Given the description of an element on the screen output the (x, y) to click on. 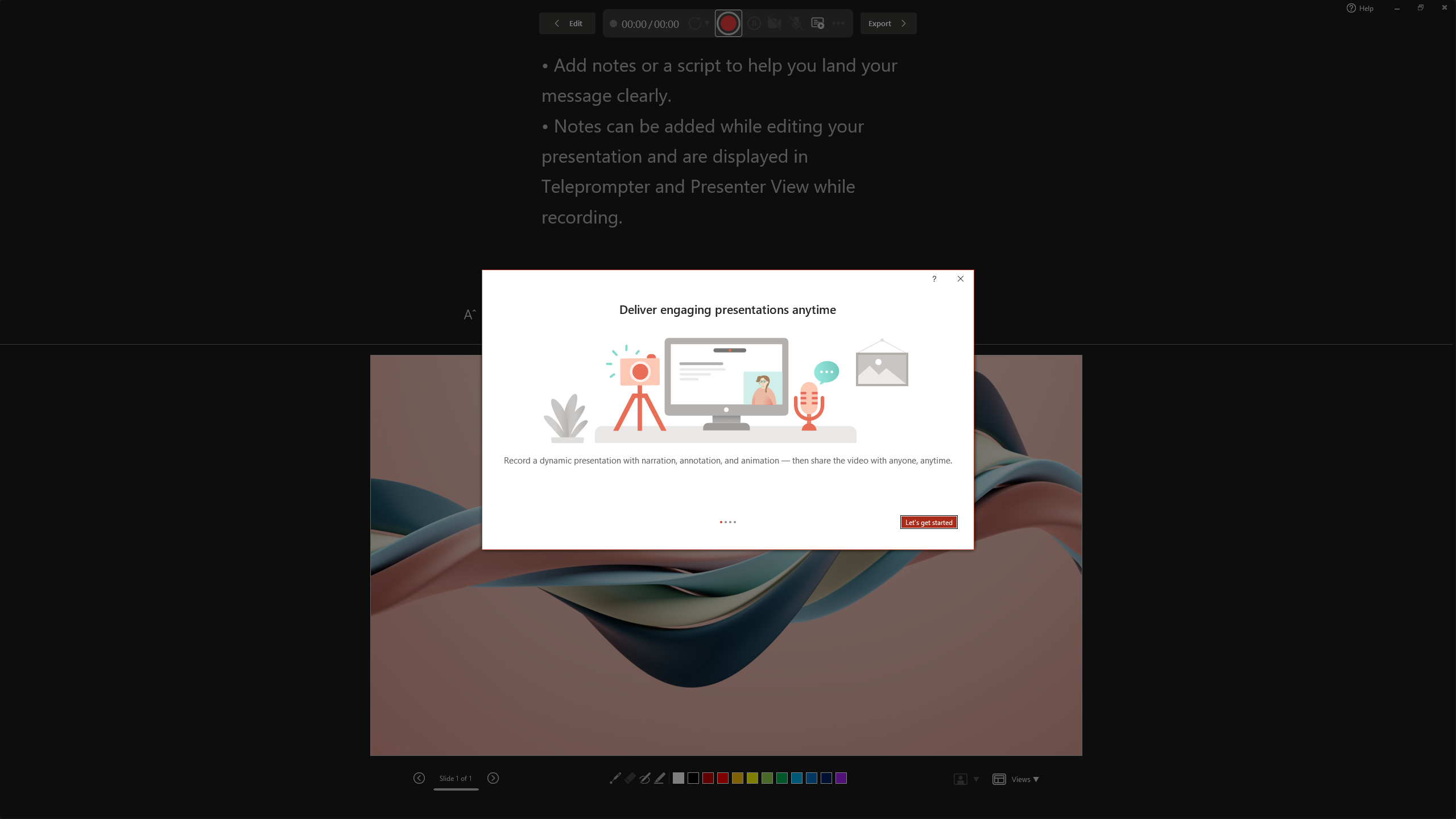
Damask (826, 56)
AfterglowVTI (32, 56)
AutomationID: ThemeVariantsGallery (1195, 56)
Integral Variant 1 (1112, 56)
Frame (984, 56)
